Given the description of an element on the screen output the (x, y) to click on. 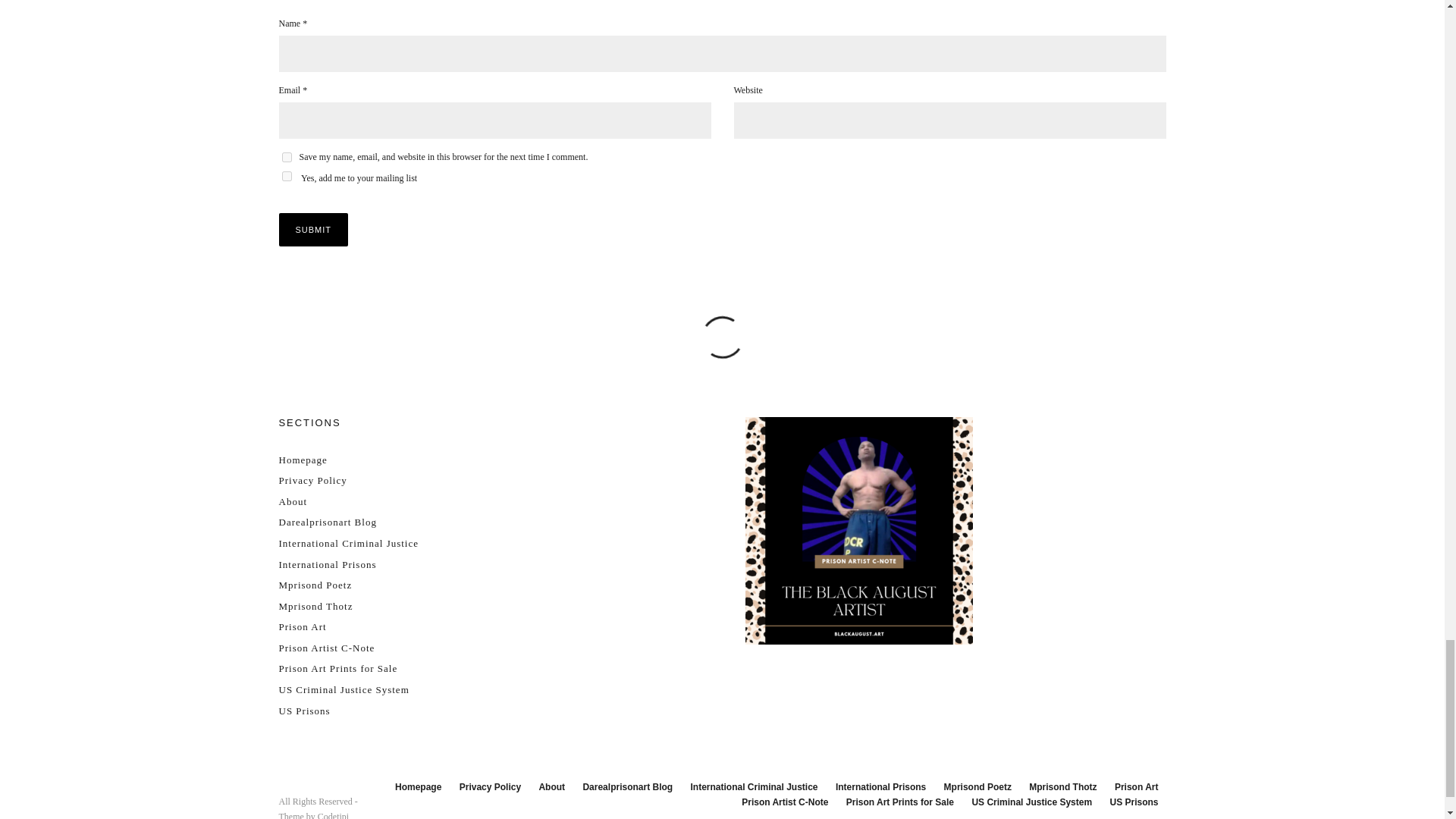
yes (287, 157)
Submit (314, 229)
1 (287, 175)
